Given the description of an element on the screen output the (x, y) to click on. 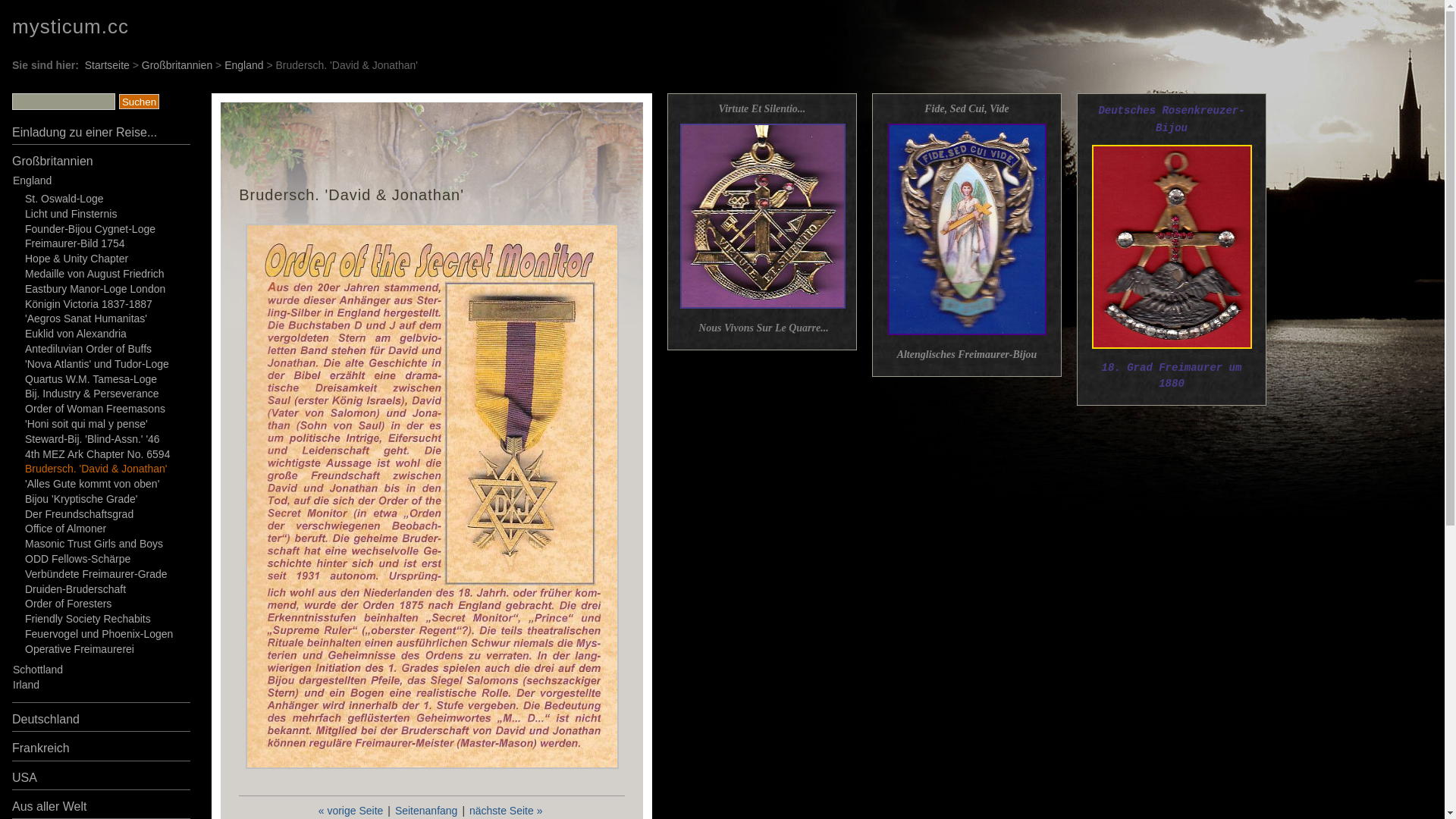
Founder-Bijou Cygnet-Loge Element type: text (90, 228)
Hope & Unity Chapter Element type: text (76, 258)
Rosenkreuzer-Bijou um 1880 Element type: hover (1172, 246)
Frankreich Element type: text (40, 747)
4th MEZ Ark Chapter No. 6594 Element type: text (97, 453)
Bij. Industry & Perseverance Element type: text (92, 393)
Irland Element type: text (25, 684)
Quartus W.M. Tamesa-Loge Element type: text (90, 379)
England Element type: text (243, 65)
Startseite Element type: text (106, 65)
Suchen Element type: text (139, 101)
England Element type: text (31, 180)
Eastbury Manor-Loge London Element type: text (95, 288)
Brudersch. David & Jonathan Element type: hover (431, 495)
Operative Freimaurerei Element type: text (79, 649)
Euklid von Alexandria Element type: text (75, 333)
Friendly Society Rechabits Element type: text (87, 618)
Freimaurer-Bild 1754 Element type: text (75, 243)
Order of Woman Freemasons Element type: text (95, 408)
'Nova Atlantis' und Tudor-Loge Element type: text (97, 363)
Der Freundschaftsgrad Element type: text (79, 514)
Schottland Element type: text (37, 669)
Aus aller Welt Element type: text (49, 806)
Office of Almoner Element type: text (65, 528)
'Alles Gute kommt von oben' Element type: text (92, 483)
'Honi soit qui mal y pense' Element type: text (86, 423)
Steward-Bij. 'Blind-Assn.' '46 Element type: text (92, 439)
Bijou 'Kryptische Grade' Element type: text (81, 498)
Deutschland Element type: text (45, 718)
Einladung zu einer Reise... Element type: text (84, 131)
St. Oswald-Loge Element type: text (64, 198)
'Aegros Sanat Humanitas' Element type: text (86, 318)
Masonic Trust Girls and Boys Element type: text (94, 543)
Licht und Finsternis Element type: text (70, 213)
Feuervogel und Phoenix-Logen Element type: text (98, 633)
USA Element type: text (24, 777)
Antediluvian Order of Buffs Element type: text (88, 348)
Druiden-Bruderschaft Element type: text (75, 589)
Order of Foresters Element type: text (68, 603)
Seitenanfang Element type: text (426, 810)
Altenglisches Freimaurer-Bijou 1914 Element type: hover (966, 229)
Medaille von August Friedrich Element type: text (94, 273)
